Given the description of an element on the screen output the (x, y) to click on. 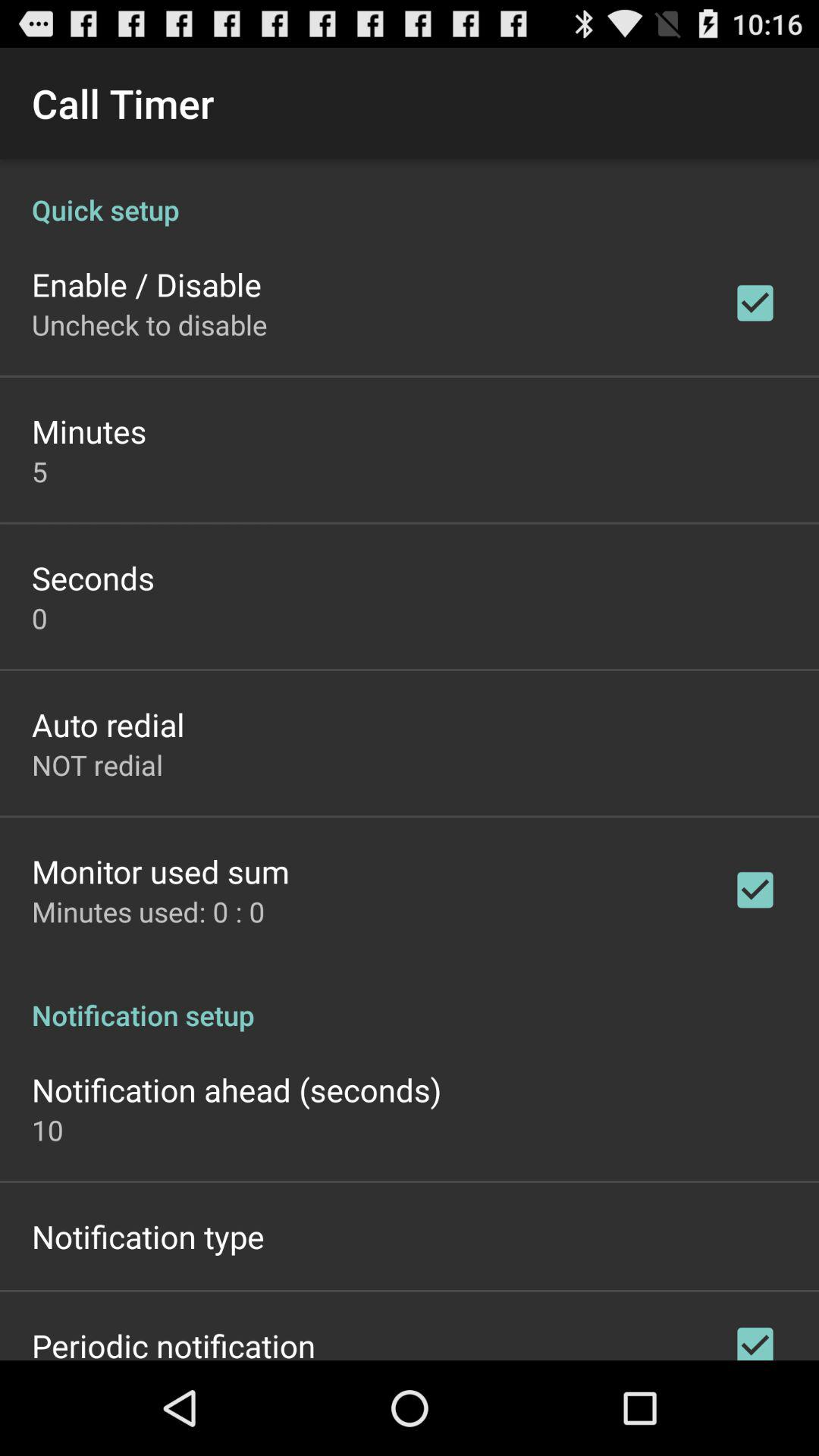
scroll until minutes used 0 icon (148, 911)
